Given the description of an element on the screen output the (x, y) to click on. 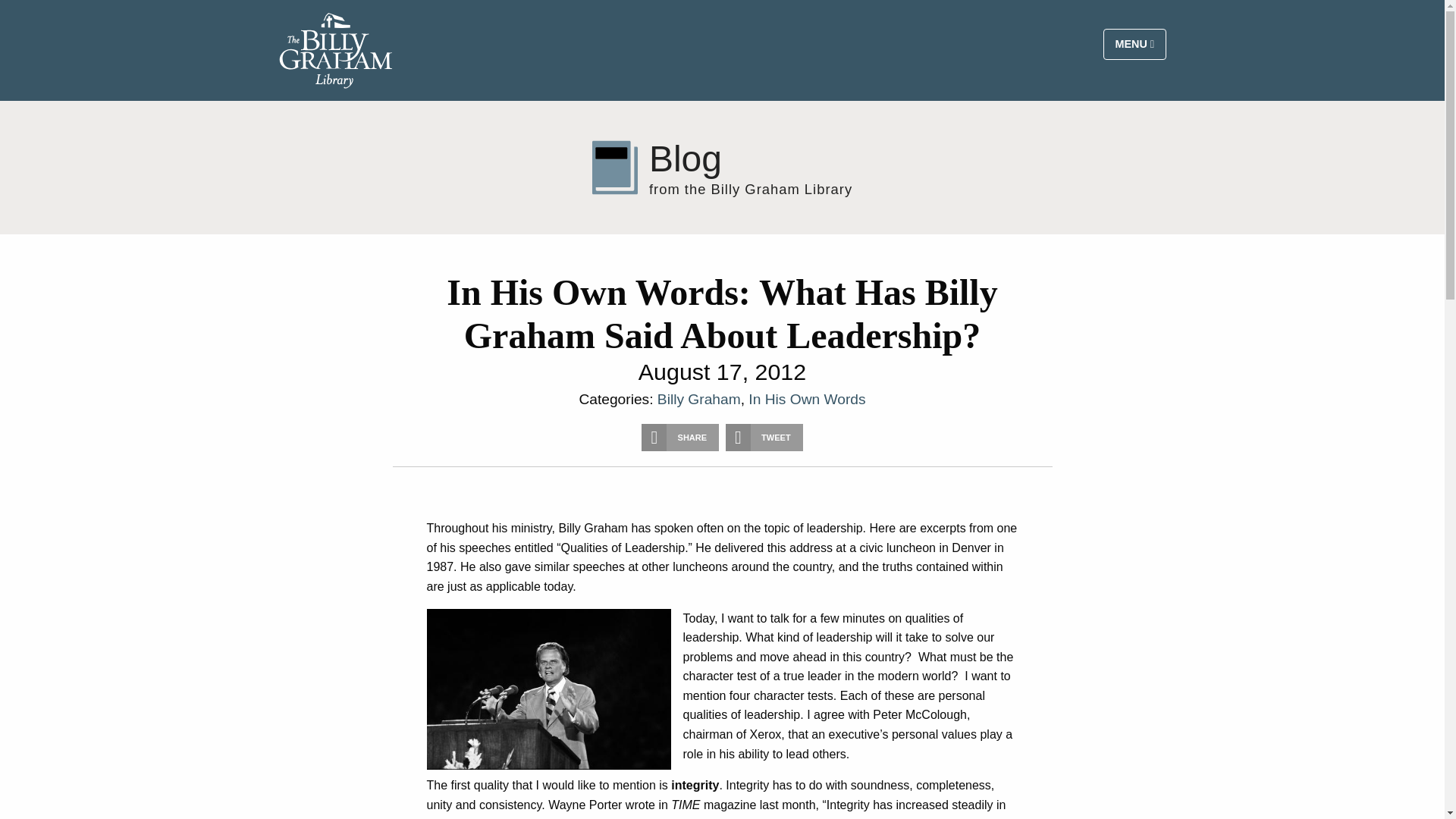
74B 1143-15A (547, 689)
The Billy Graham Library (336, 49)
